Given the description of an element on the screen output the (x, y) to click on. 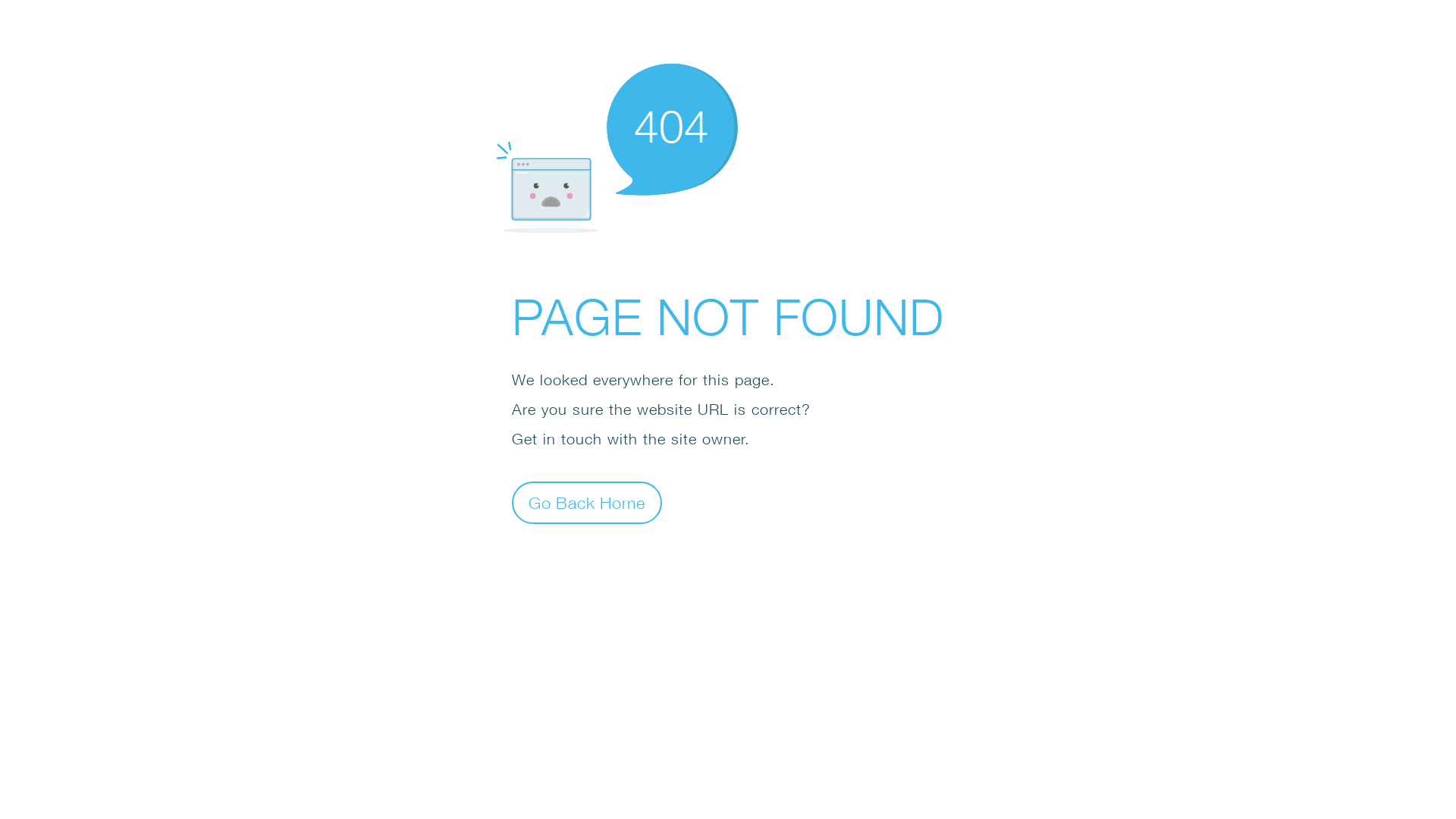
Go Back Home Element type: text (586, 502)
